Given the description of an element on the screen output the (x, y) to click on. 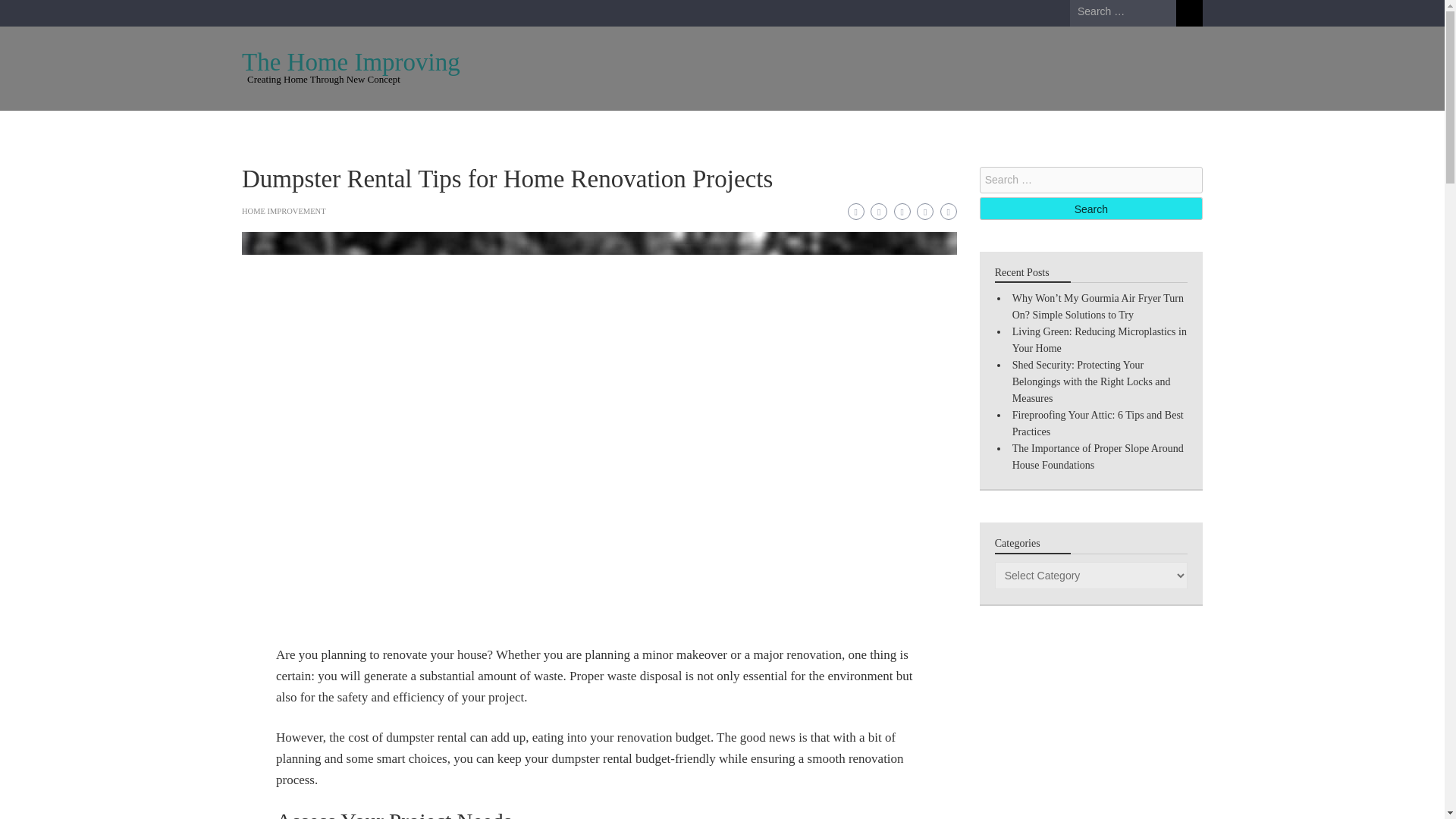
Real Estate (1026, 129)
Appliances (284, 129)
Archritecture (373, 129)
Search (1189, 13)
Home Improvement (683, 129)
Furniture (458, 129)
HOME IMPROVEMENT (283, 211)
Search (1189, 13)
Kitchen (531, 129)
Interiors (856, 129)
